Given the description of an element on the screen output the (x, y) to click on. 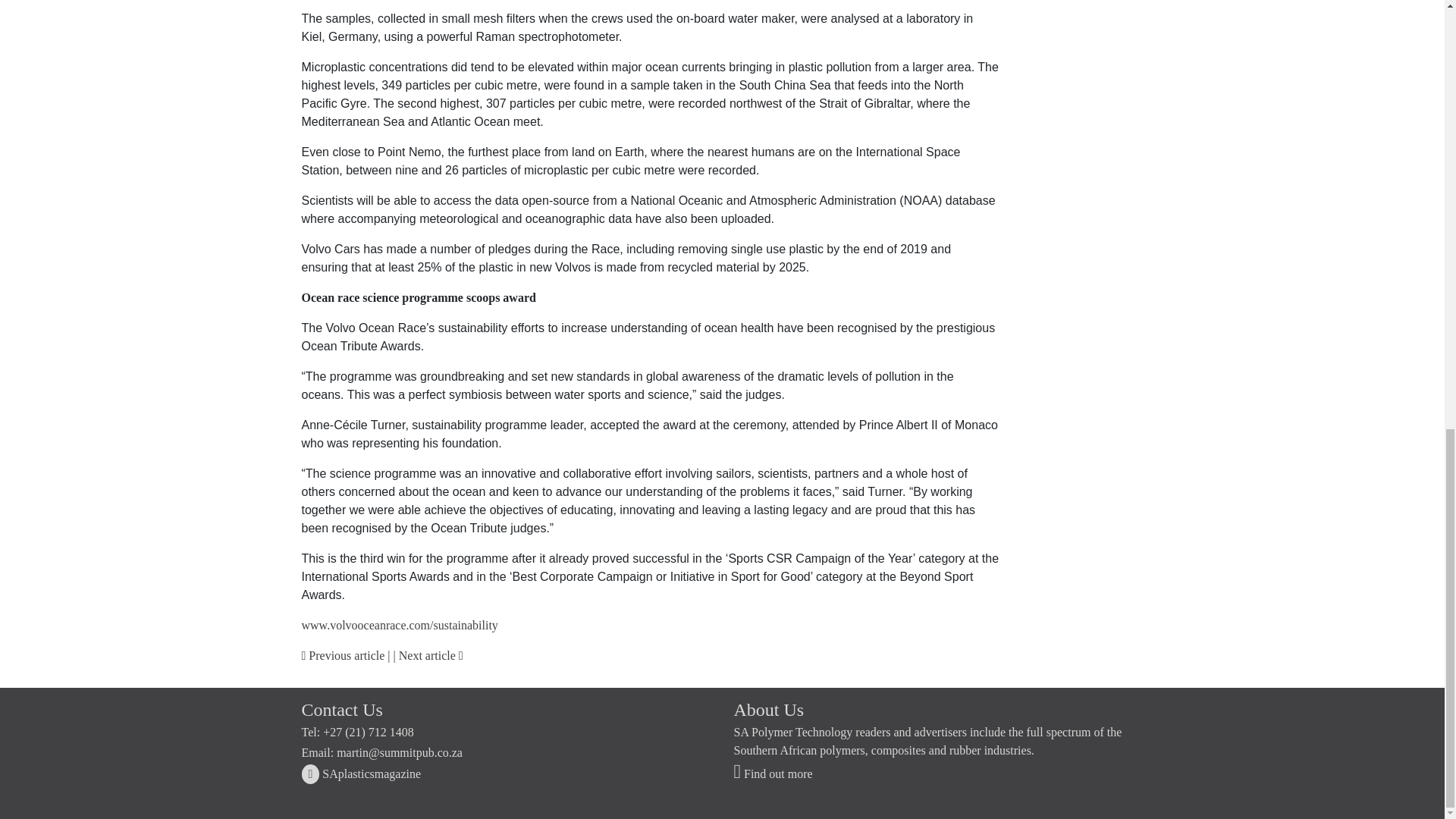
 Find out more (772, 773)
 SAplasticsmagazine (361, 773)
